Given the description of an element on the screen output the (x, y) to click on. 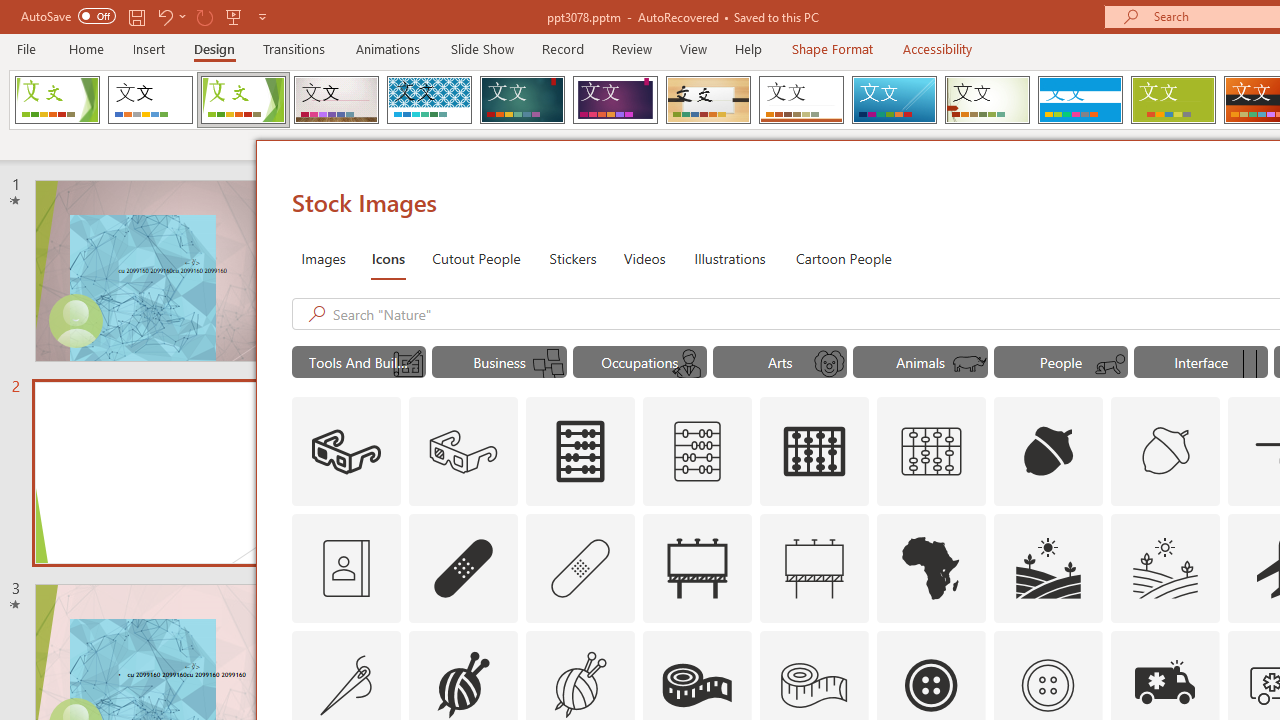
AutomationID: Icons_AdhesiveBandage (463, 568)
Retrospect (801, 100)
Thumbnail (1204, 645)
AutomationID: Icons_Clown_M (829, 364)
AutomationID: Icons_3dGlasses_M (463, 452)
Stickers (573, 258)
Icons (388, 258)
Gallery (336, 100)
Office Theme (150, 100)
AutomationID: Icons_Advertising_M (815, 568)
